Given the description of an element on the screen output the (x, y) to click on. 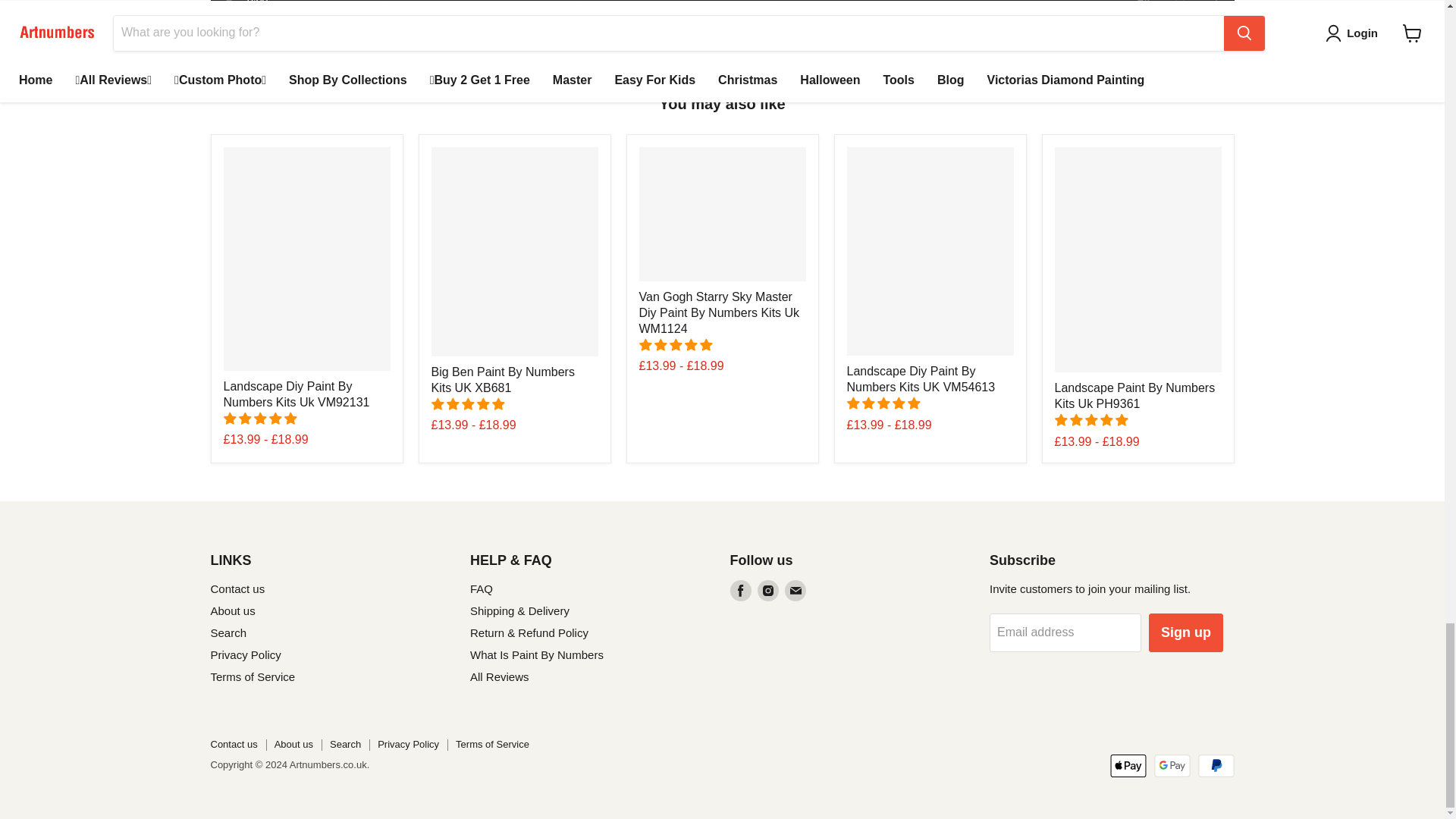
Instagram (767, 590)
Email (794, 590)
Apple Pay (1128, 765)
Facebook (740, 590)
Google Pay (1172, 765)
PayPal (1216, 765)
